Given the description of an element on the screen output the (x, y) to click on. 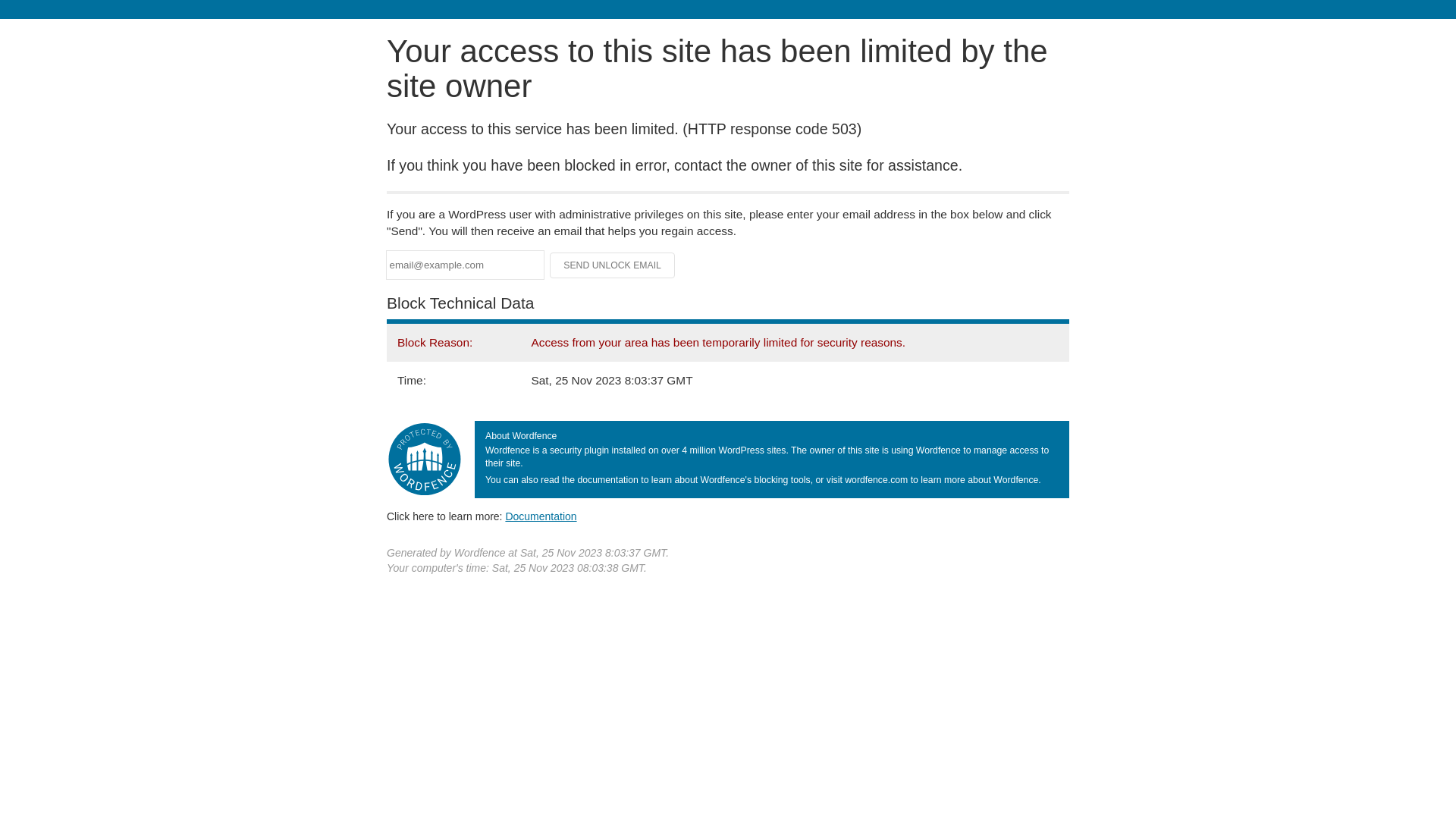
Documentation Element type: text (540, 516)
Send Unlock Email Element type: text (612, 265)
